Given the description of an element on the screen output the (x, y) to click on. 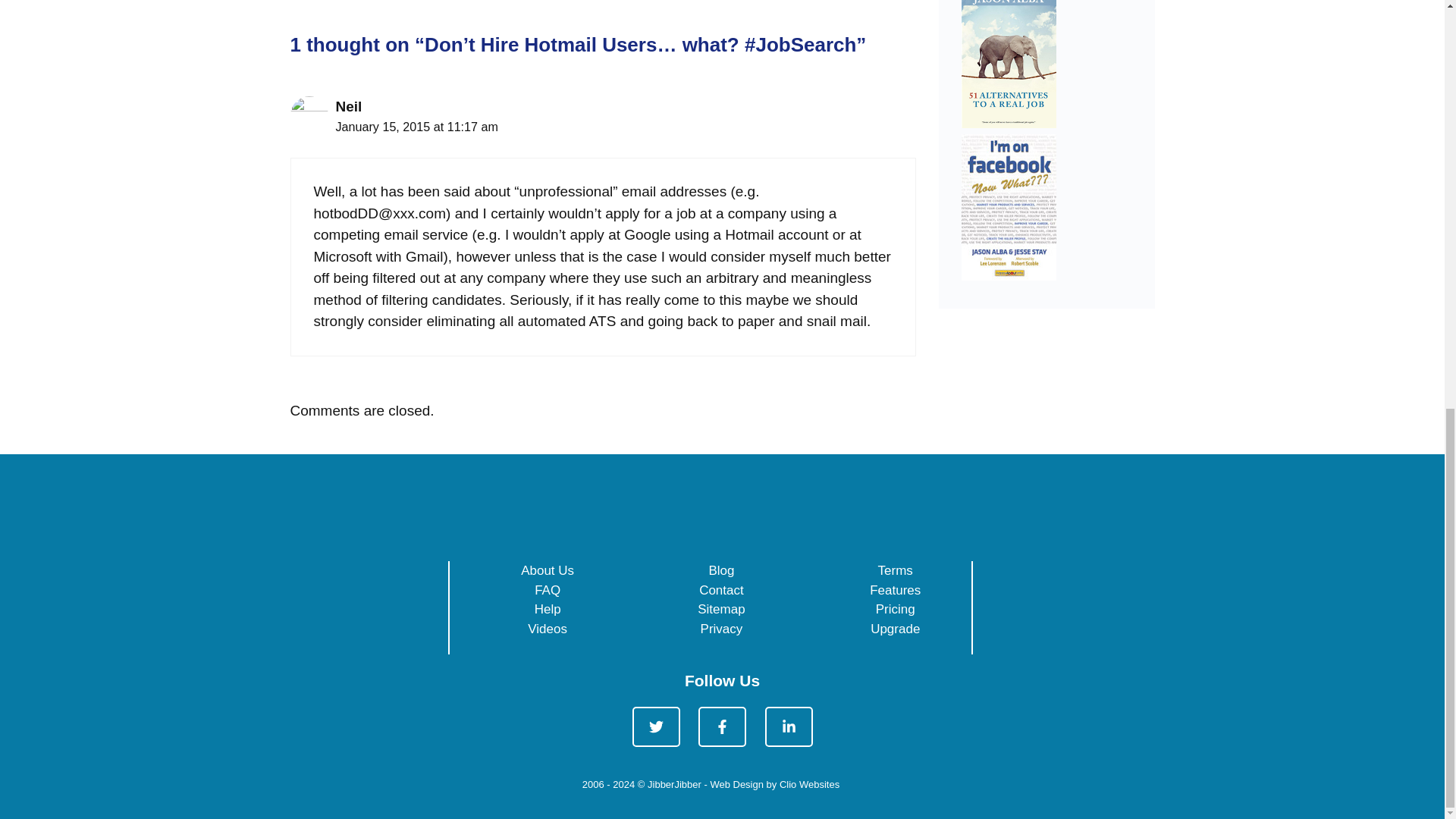
Help (547, 608)
Blog (720, 570)
January 15, 2015 at 11:17 am (415, 126)
Contact (721, 590)
FAQ (547, 590)
About Us (547, 570)
Videos (547, 628)
